Given the description of an element on the screen output the (x, y) to click on. 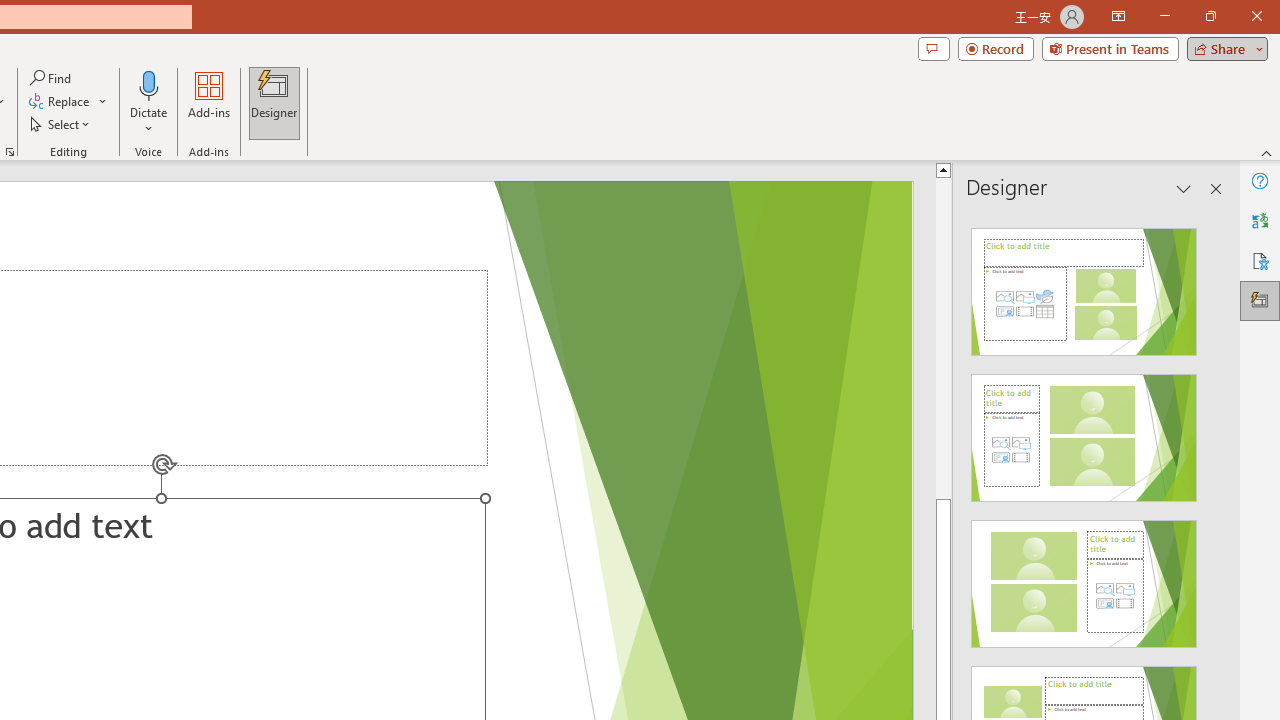
Recommended Design: Design Idea (1083, 286)
